Given the description of an element on the screen output the (x, y) to click on. 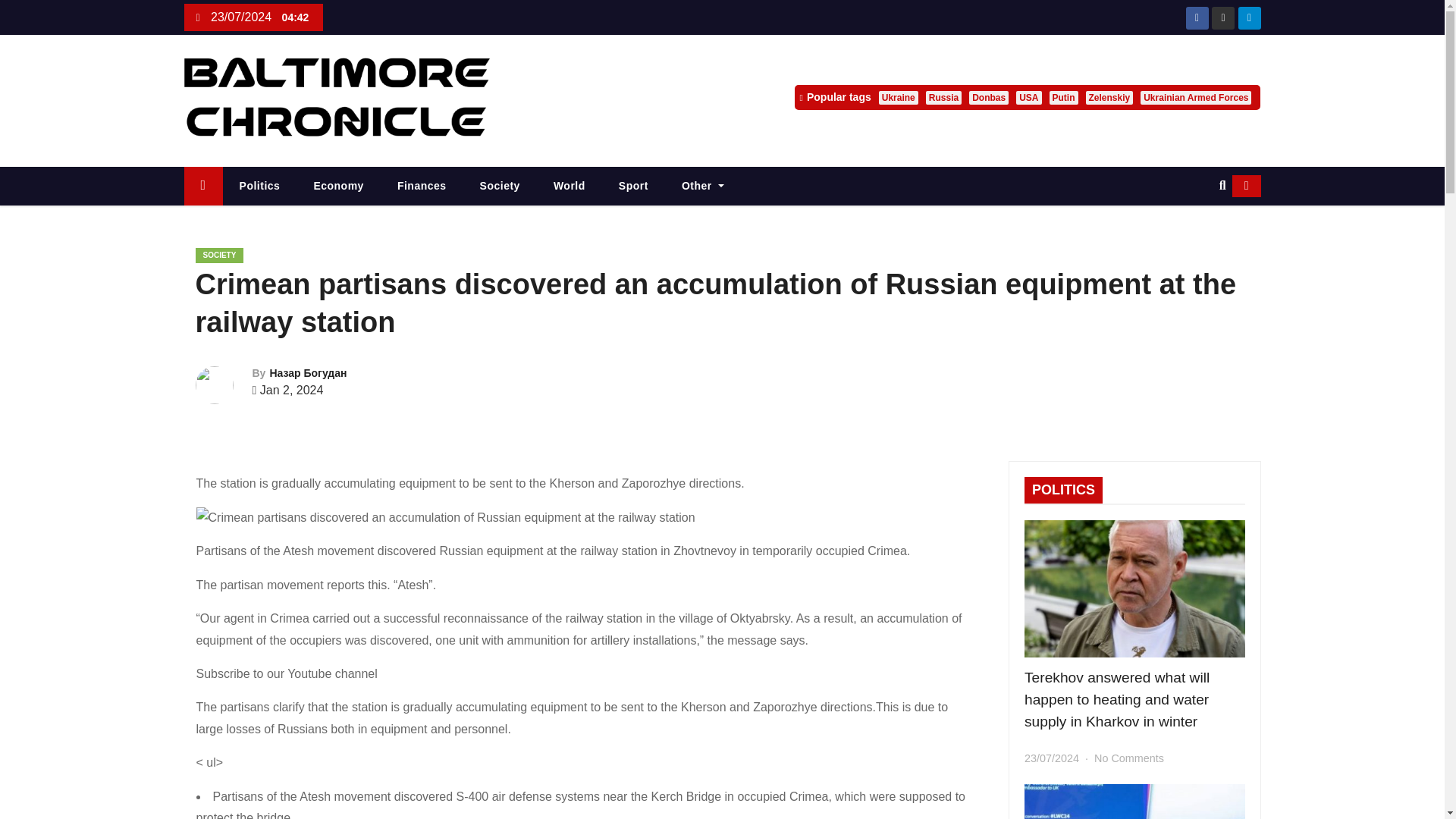
Economy (338, 186)
USA (1028, 97)
World (569, 186)
Zelenskiy (1110, 97)
Finances (421, 186)
Putin (1063, 97)
Society (500, 186)
Other (703, 186)
SOCIETY (219, 255)
Ukrainian Armed Forces (1195, 97)
Home (202, 186)
Politics (259, 186)
Sport (633, 186)
Finances (421, 186)
Donbas (989, 97)
